Given the description of an element on the screen output the (x, y) to click on. 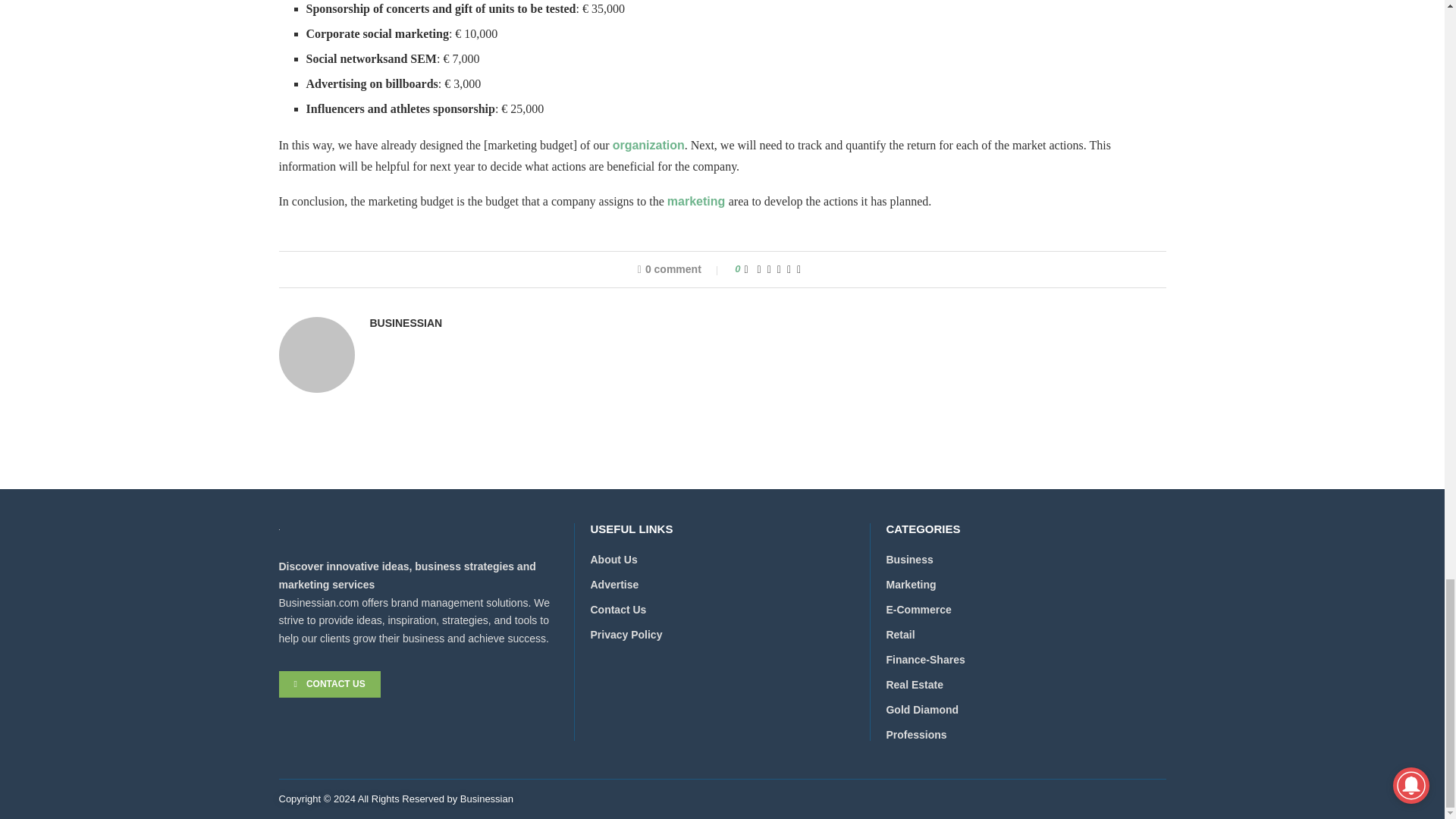
Author businessian (405, 322)
Like (746, 268)
